Given the description of an element on the screen output the (x, y) to click on. 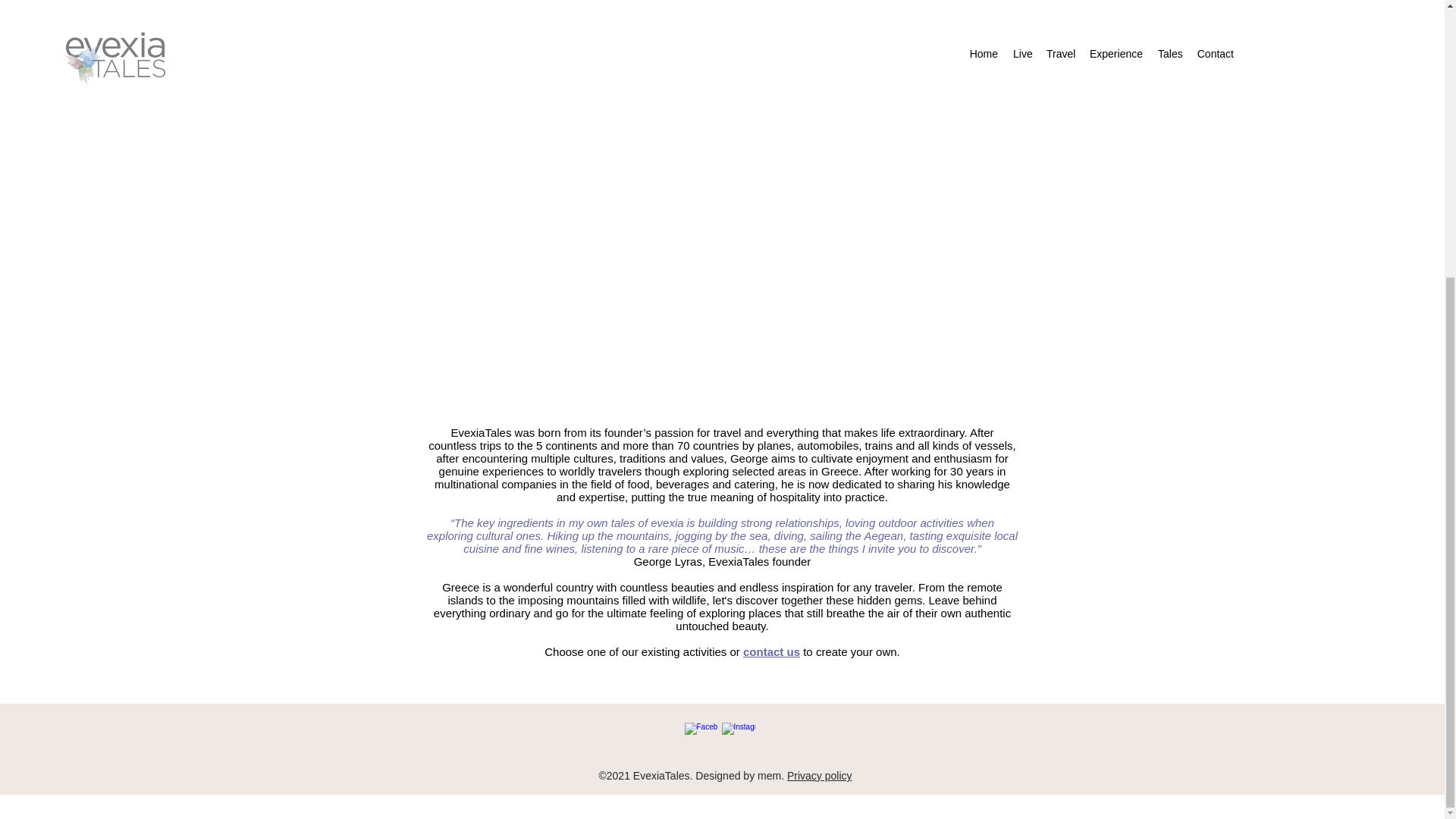
Privacy policy (819, 775)
contact us (770, 651)
mem. (770, 775)
